Given the description of an element on the screen output the (x, y) to click on. 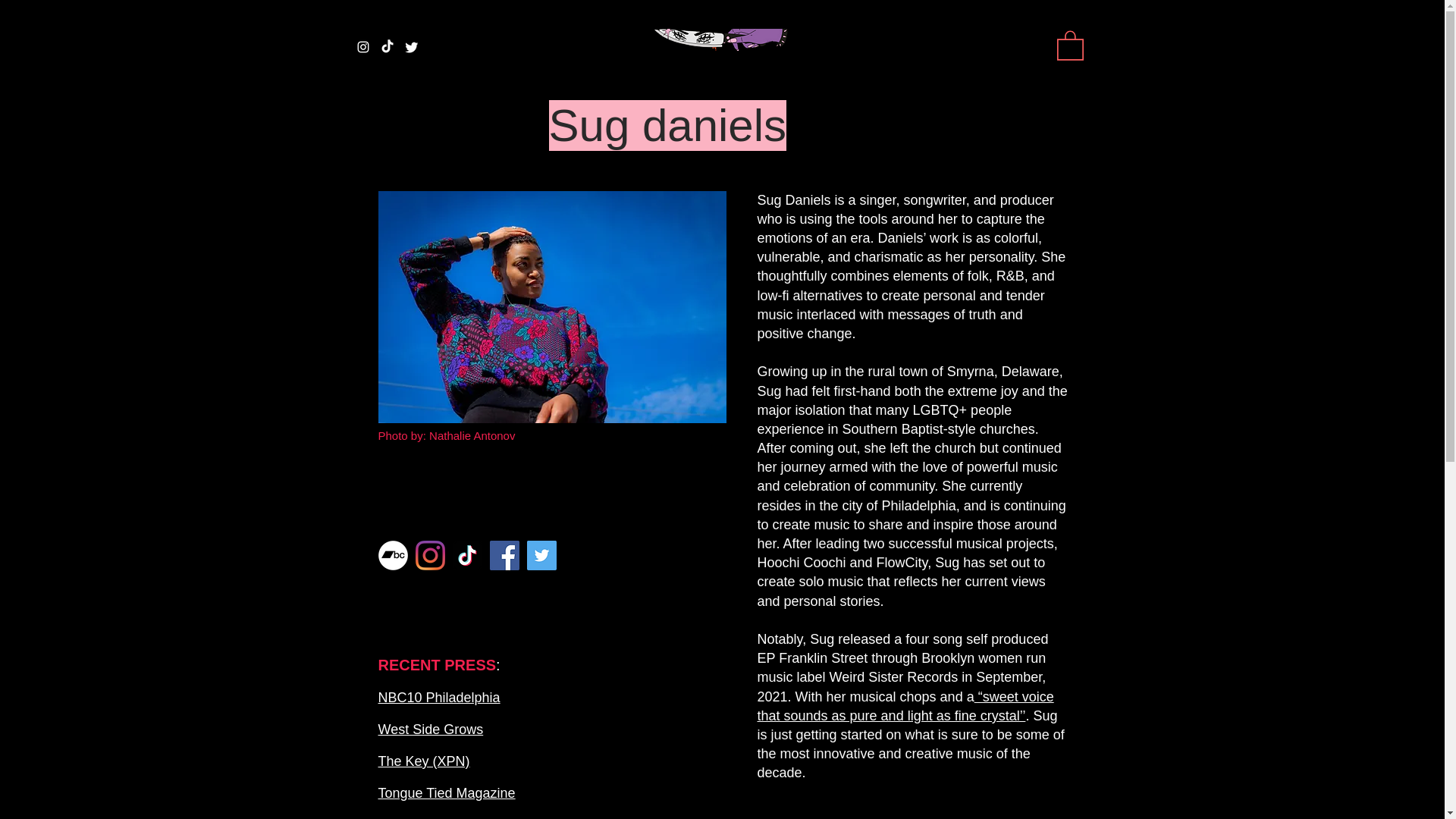
West Side Grows (430, 729)
Affirm Noire (413, 818)
NBC10 Philadelphia (438, 697)
Tongue Tied Magazine (446, 792)
